Given the description of an element on the screen output the (x, y) to click on. 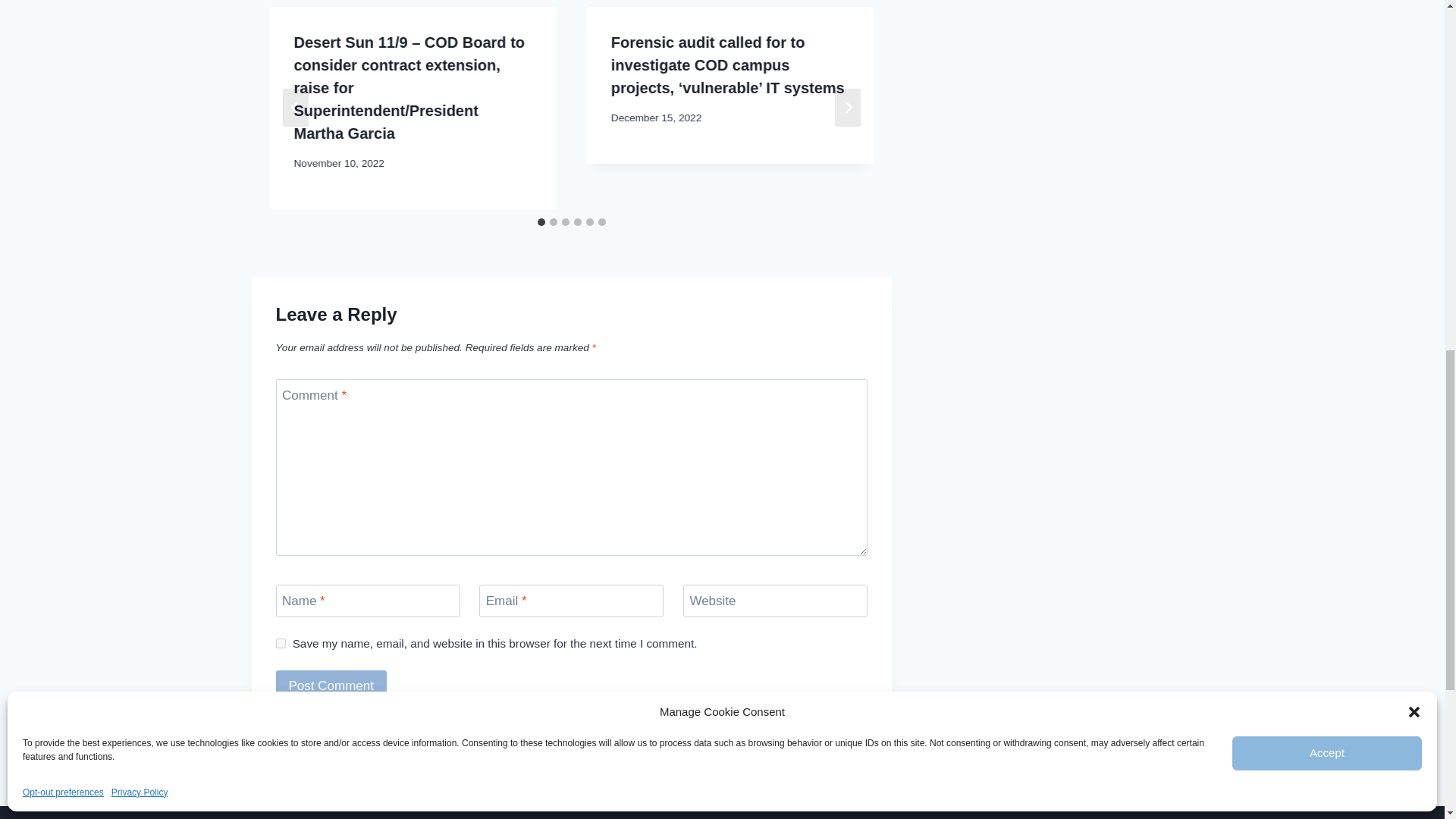
yes (280, 643)
Post Comment (331, 685)
